Given the description of an element on the screen output the (x, y) to click on. 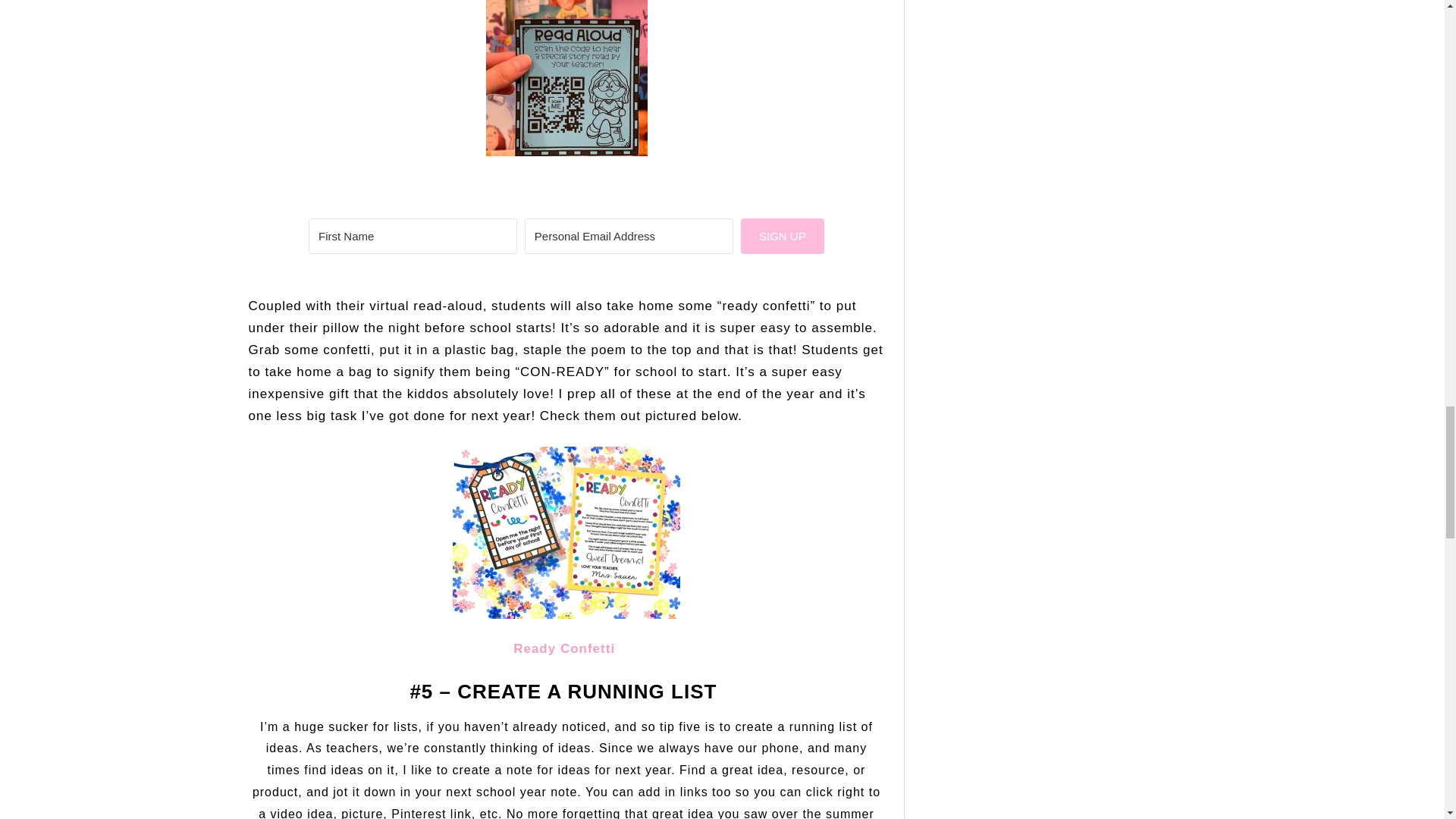
Ready Confetti  (566, 648)
SIGN UP (782, 235)
